Given the description of an element on the screen output the (x, y) to click on. 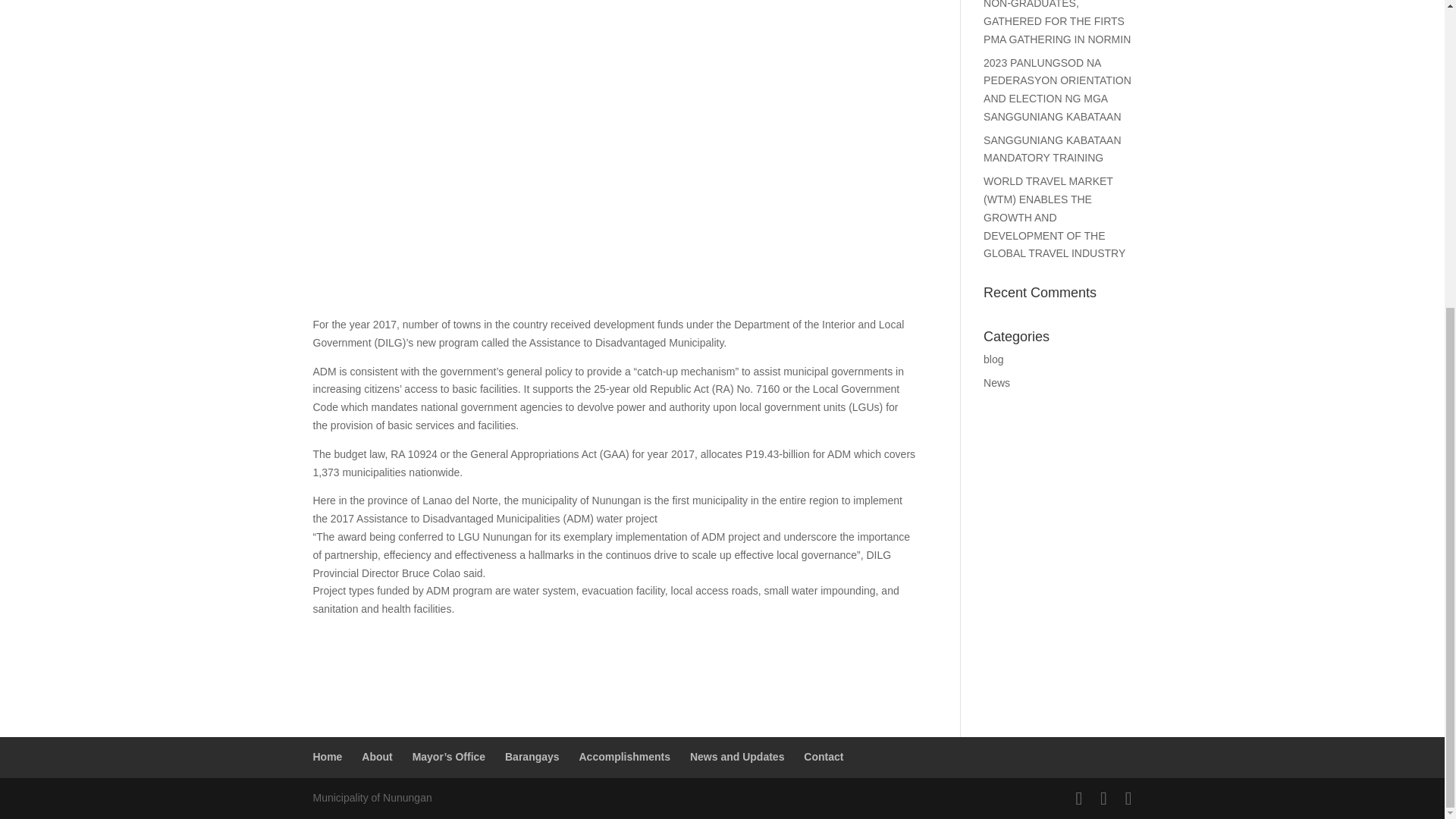
SANGGUNIANG KABATAAN MANDATORY TRAINING (1052, 149)
News and Updates (737, 756)
About (376, 756)
Barangays (532, 756)
blog (993, 358)
News (997, 382)
Home (327, 756)
Accomplishments (623, 756)
Contact (823, 756)
